Given the description of an element on the screen output the (x, y) to click on. 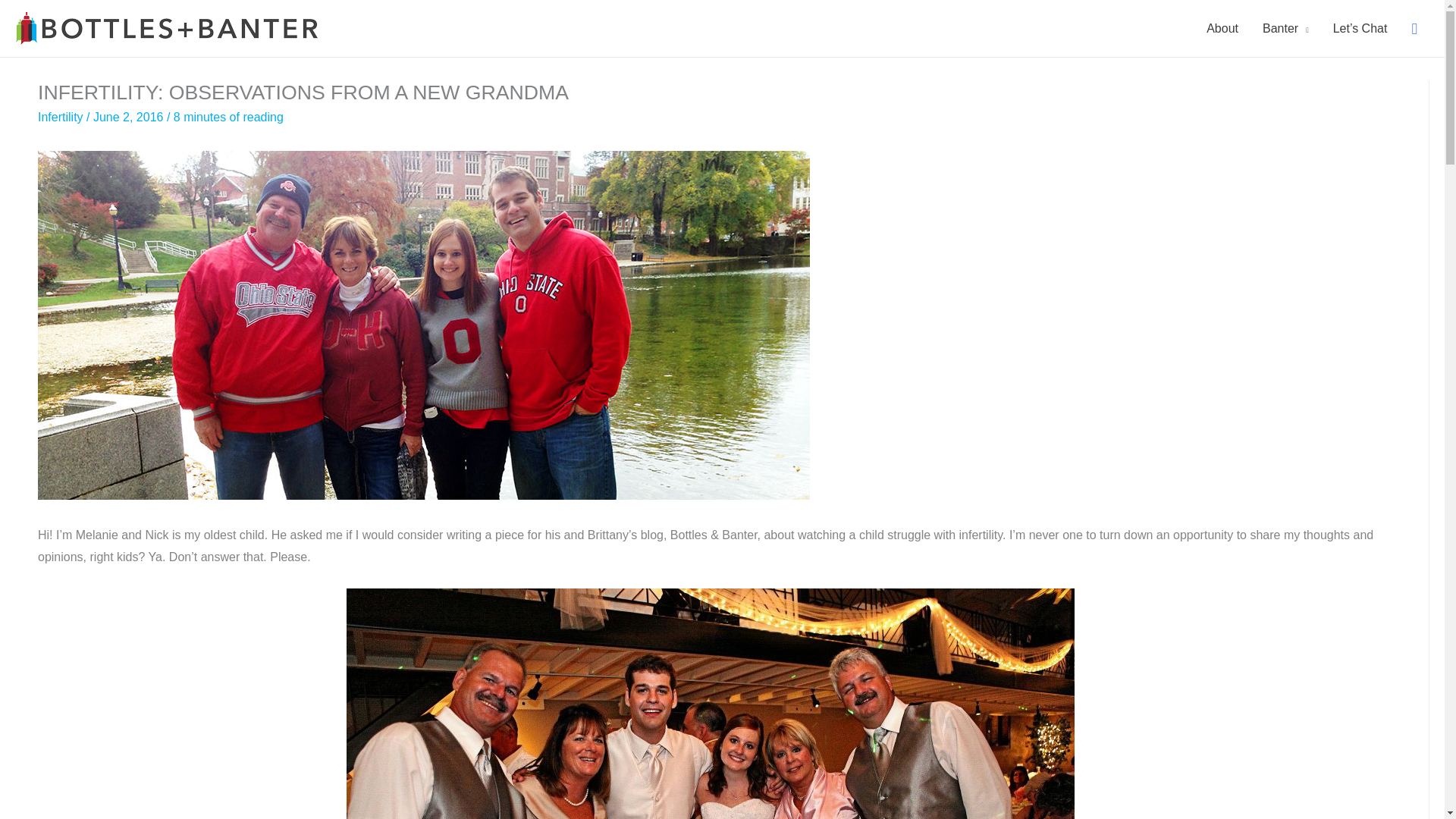
About (1221, 28)
Infertility (59, 116)
Search (18, 17)
Banter (1285, 28)
